Given the description of an element on the screen output the (x, y) to click on. 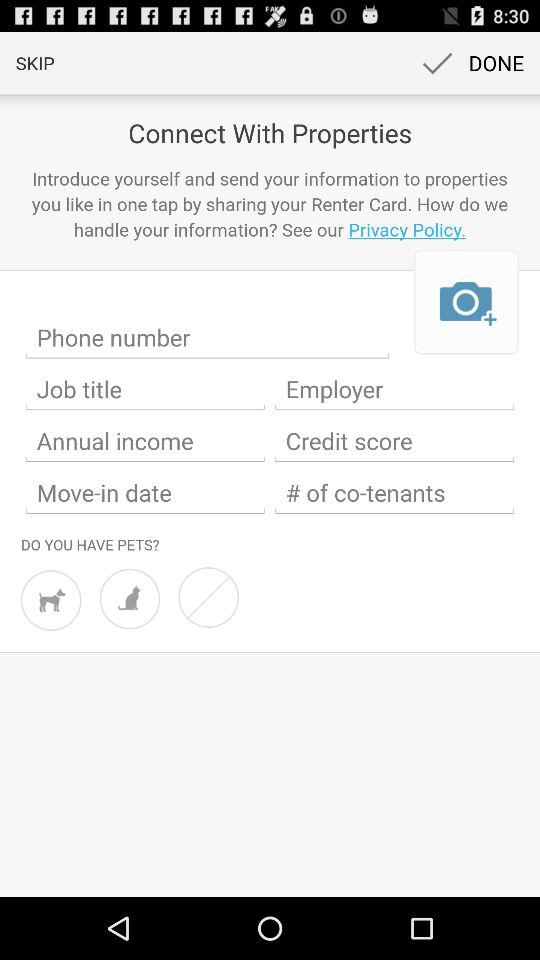
enter phone number (207, 337)
